Given the description of an element on the screen output the (x, y) to click on. 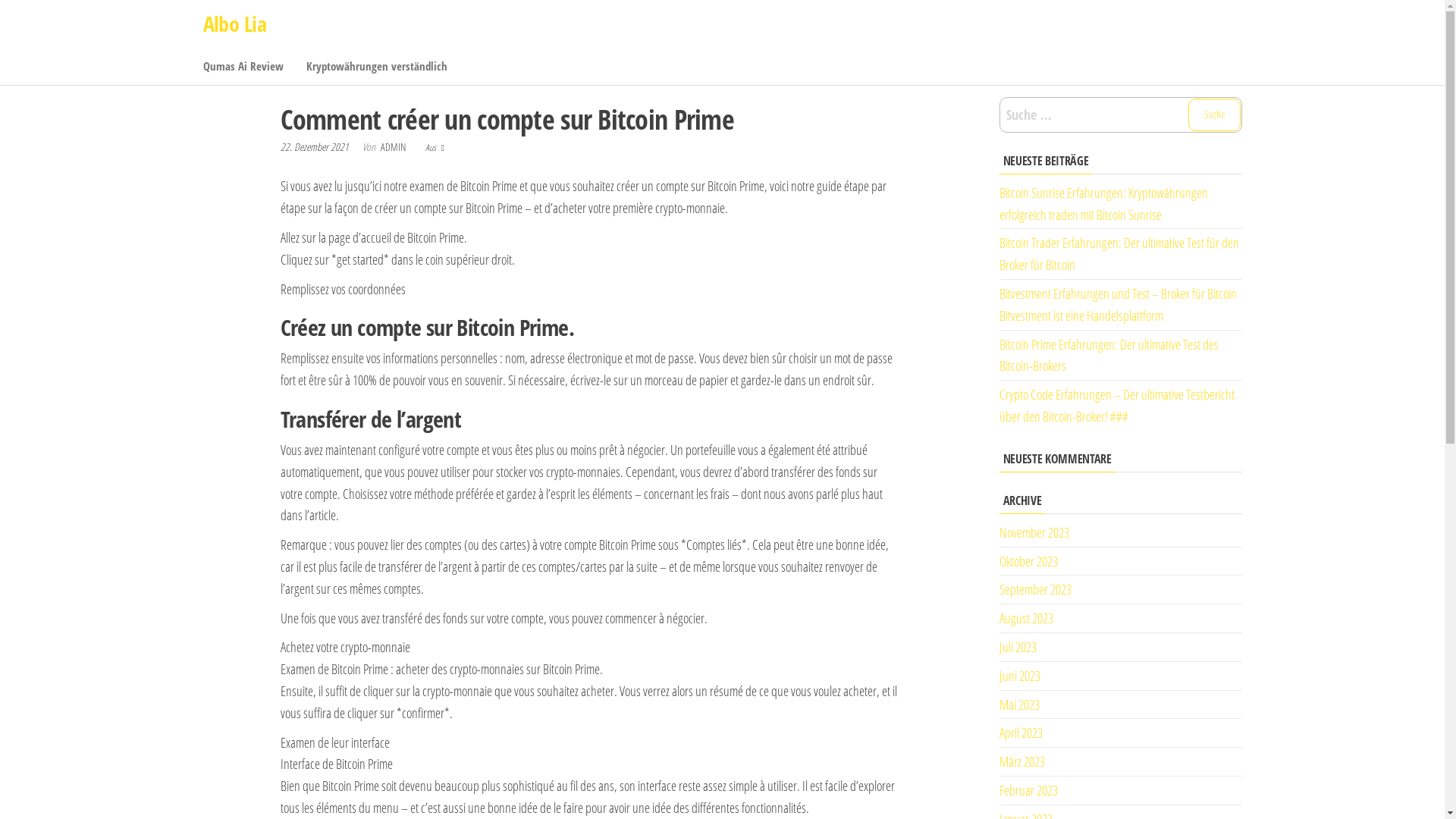
Albo Lia Element type: text (234, 23)
Mai 2023 Element type: text (1019, 704)
Suche Element type: text (1213, 114)
Juni 2023 Element type: text (1019, 675)
Februar 2023 Element type: text (1028, 790)
ADMIN Element type: text (393, 146)
August 2023 Element type: text (1026, 617)
Qumas Ai Review Element type: text (242, 65)
April 2023 Element type: text (1020, 732)
September 2023 Element type: text (1035, 589)
Oktober 2023 Element type: text (1028, 561)
Juli 2023 Element type: text (1017, 646)
November 2023 Element type: text (1034, 532)
